Given the description of an element on the screen output the (x, y) to click on. 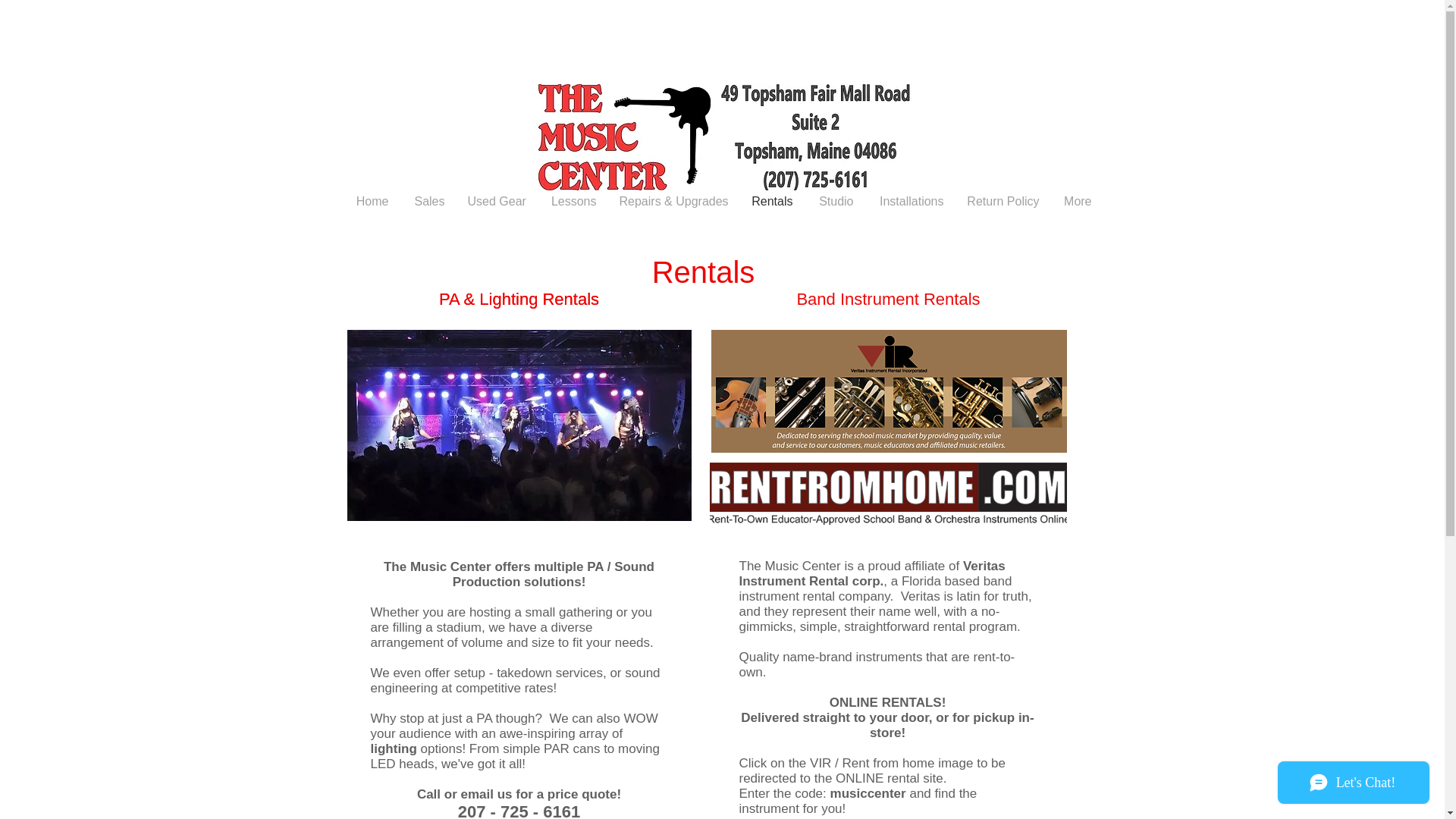
Return Policy (1003, 201)
Used Gear (497, 201)
Home (371, 201)
Sales (428, 201)
Rentals (771, 201)
Installations (909, 201)
Lessons (572, 201)
Studio (833, 201)
